Given the description of an element on the screen output the (x, y) to click on. 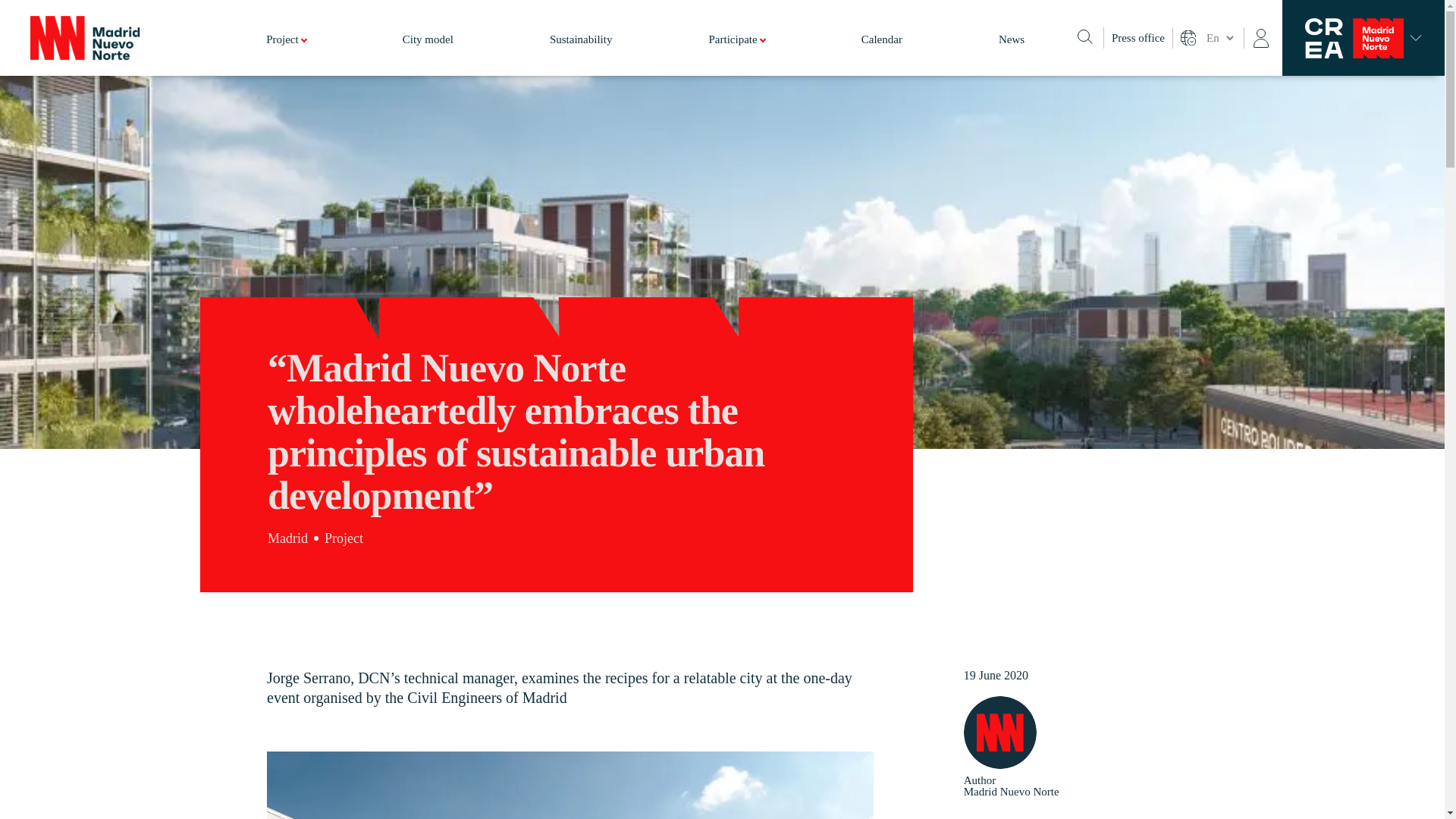
Project (285, 54)
Sustainability (581, 54)
Press office (1138, 37)
Calendar (881, 54)
City model (427, 54)
Participate (737, 54)
